Given the description of an element on the screen output the (x, y) to click on. 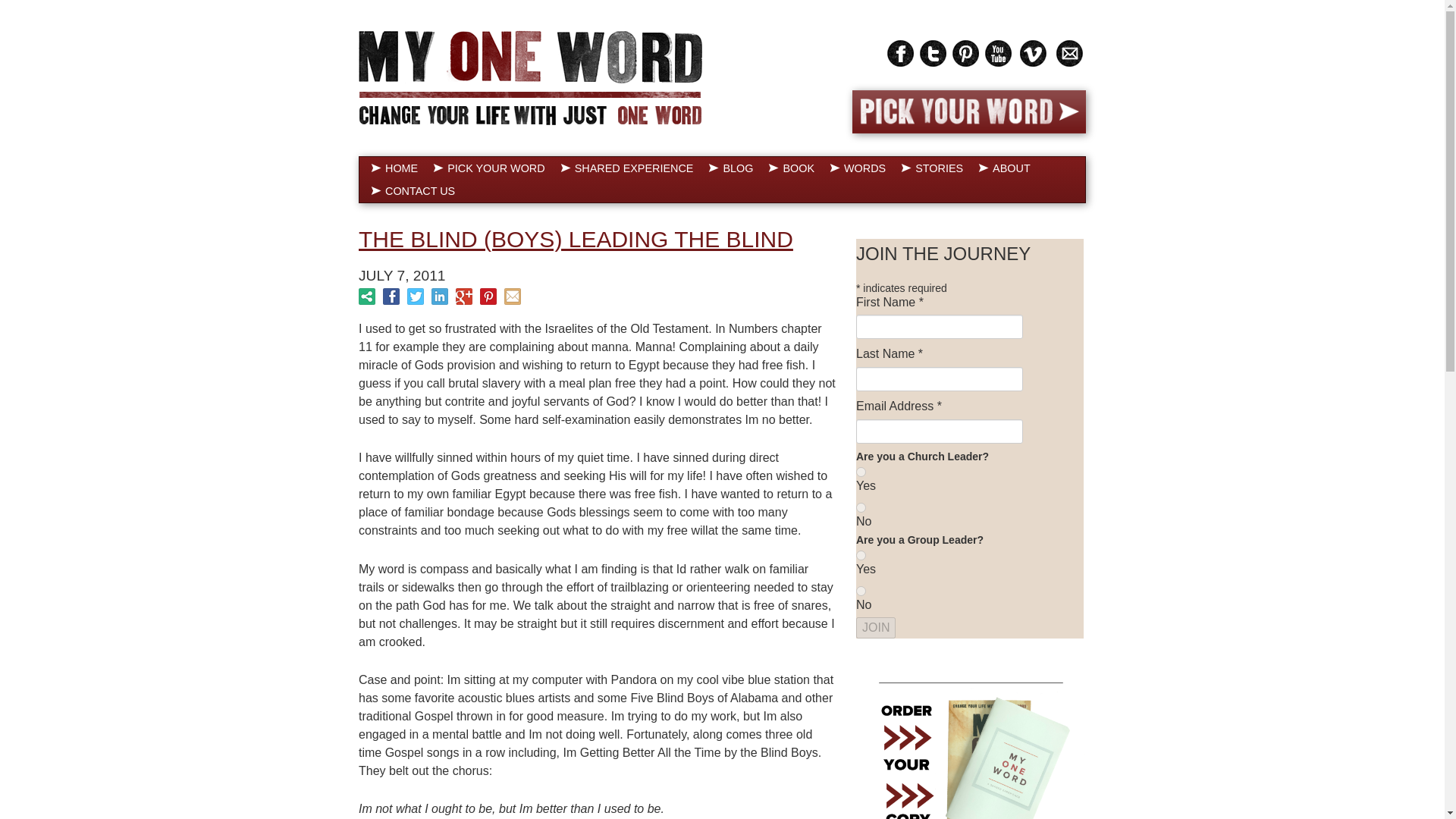
BLOG (730, 168)
Yes (861, 555)
STORIES (932, 168)
JOIN (875, 627)
No (861, 507)
No (861, 591)
JOIN (875, 627)
WORDS (857, 168)
PICK YOUR WORD (488, 168)
Yes (861, 471)
CONTACT US (412, 190)
BOOK (791, 168)
ABOUT (1004, 168)
SHARED EXPERIENCE (627, 168)
HOME (393, 168)
